Given the description of an element on the screen output the (x, y) to click on. 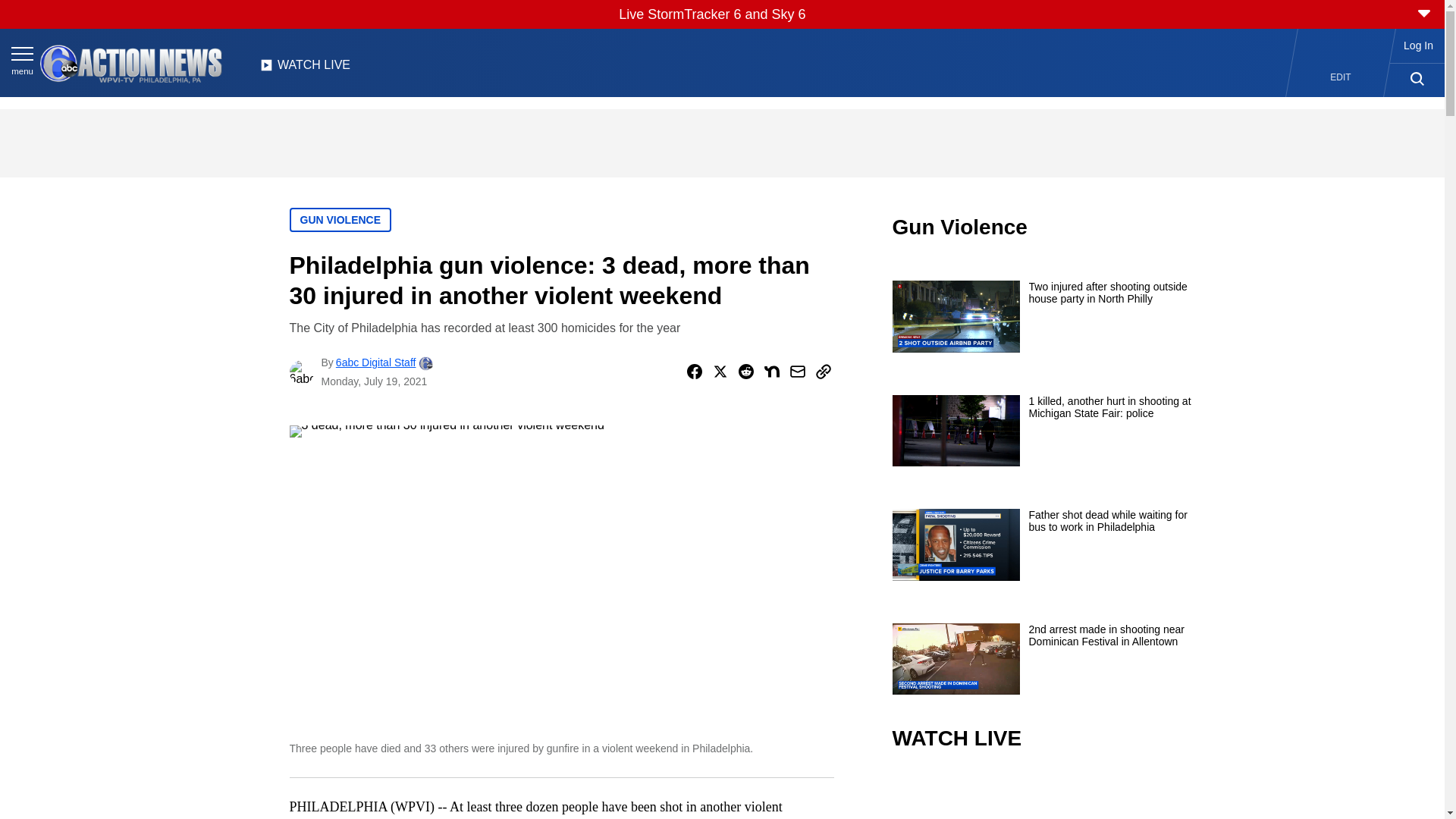
video.title (1043, 796)
EDIT (1340, 77)
WATCH LIVE (305, 69)
